Given the description of an element on the screen output the (x, y) to click on. 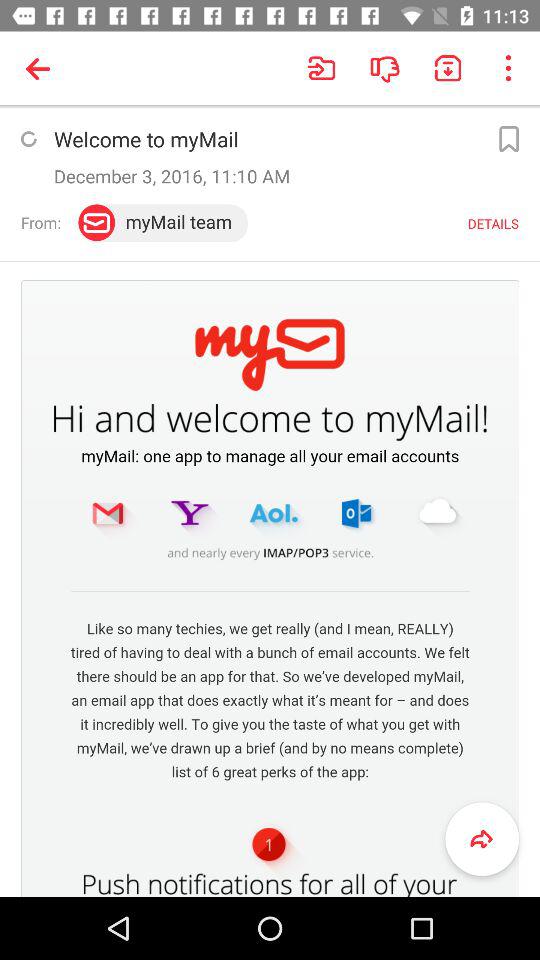
add to bookmarks (508, 139)
